Given the description of an element on the screen output the (x, y) to click on. 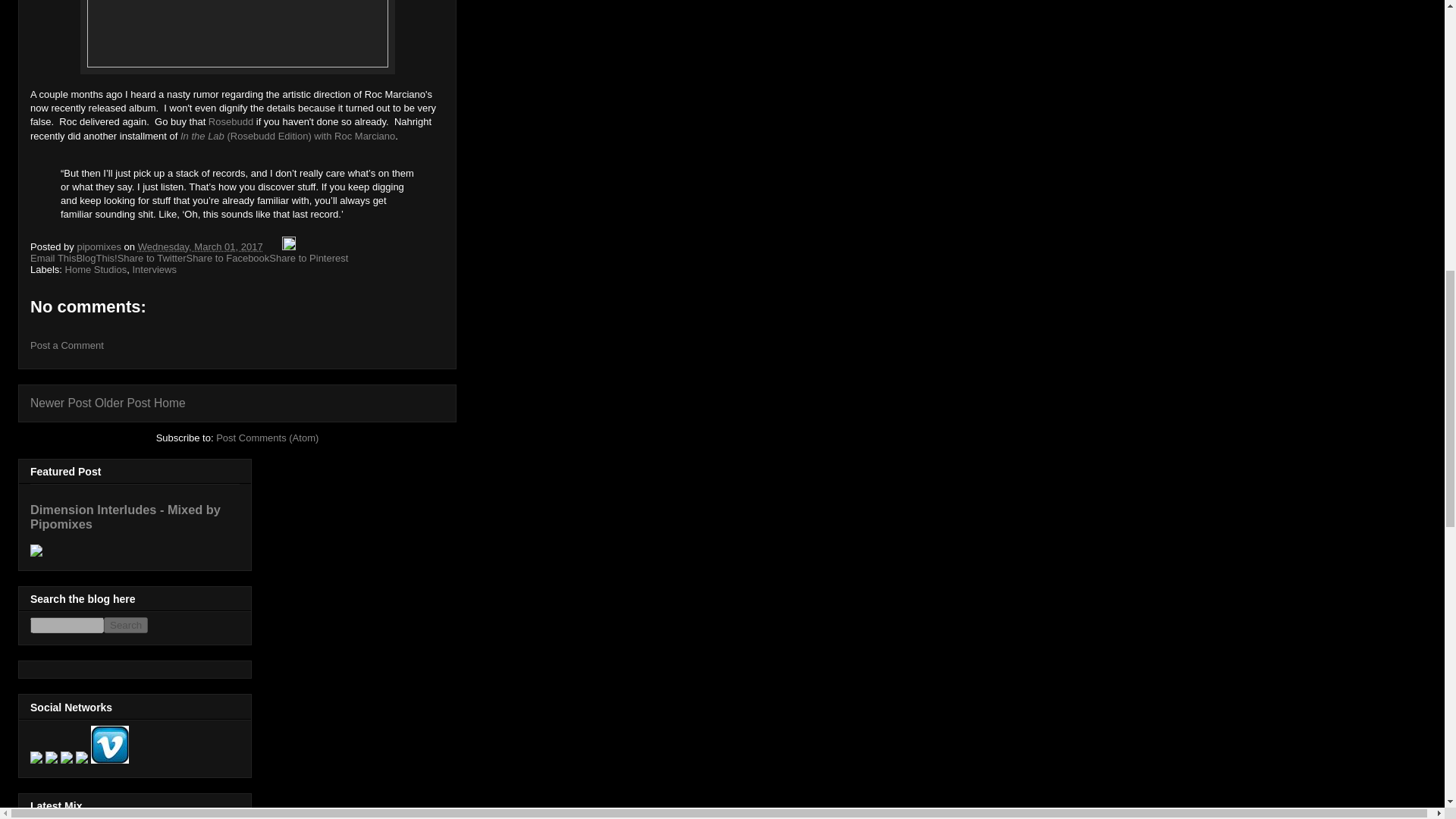
Share to Facebook (227, 257)
Search (125, 625)
Older Post (122, 402)
search (125, 625)
Search (125, 625)
Home Studios (96, 269)
Edit Post (288, 246)
BlogThis! (95, 257)
Share to Pinterest (308, 257)
permanent link (200, 246)
Newer Post (60, 402)
Newer Post (60, 402)
Share to Facebook (227, 257)
Older Post (122, 402)
Post a Comment (66, 345)
